Given the description of an element on the screen output the (x, y) to click on. 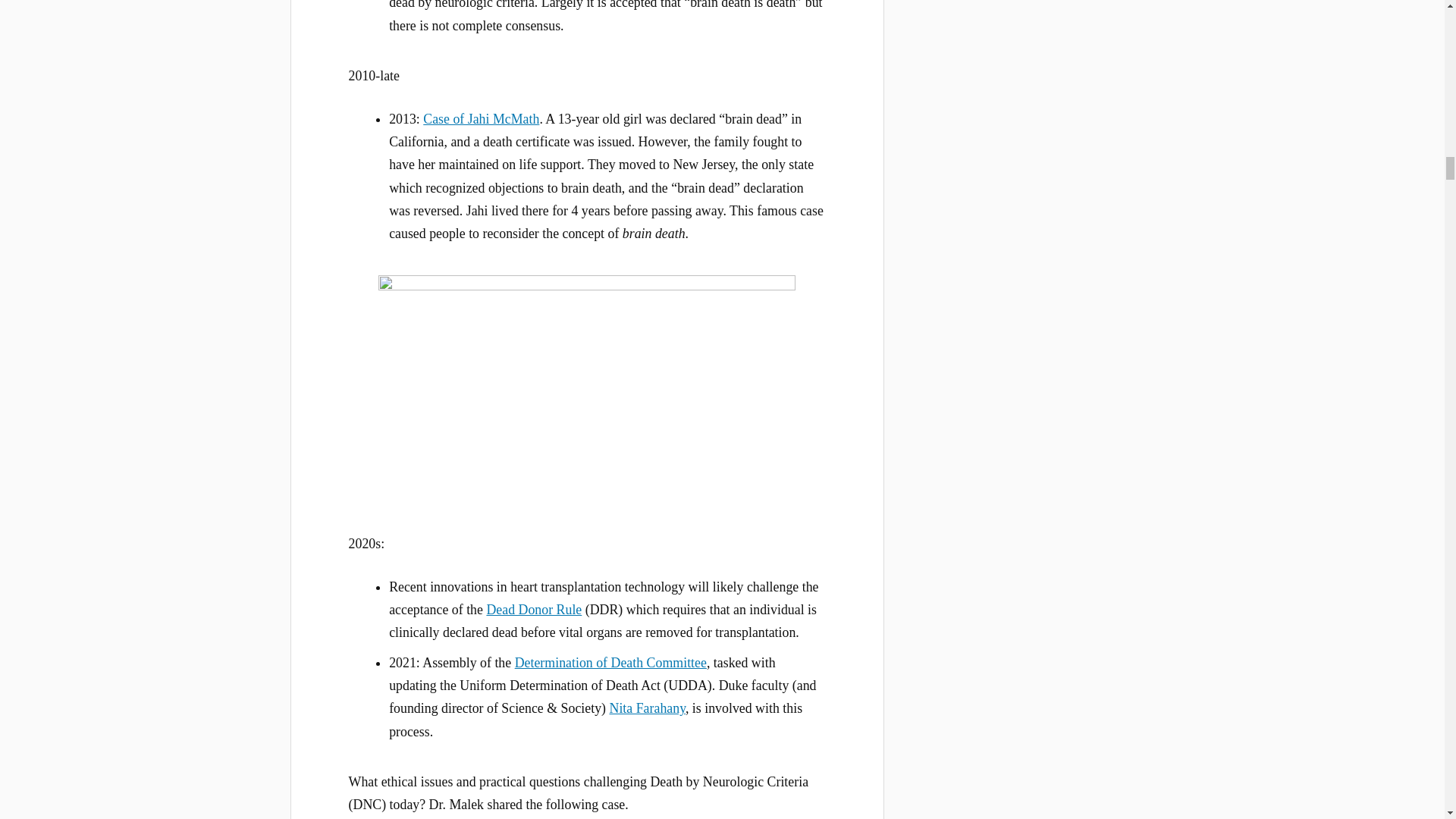
Nita Farahany (647, 708)
Dead Donor Rule (533, 609)
Determination of Death Committee (610, 662)
Case of Jahi McMath (480, 118)
